Given the description of an element on the screen output the (x, y) to click on. 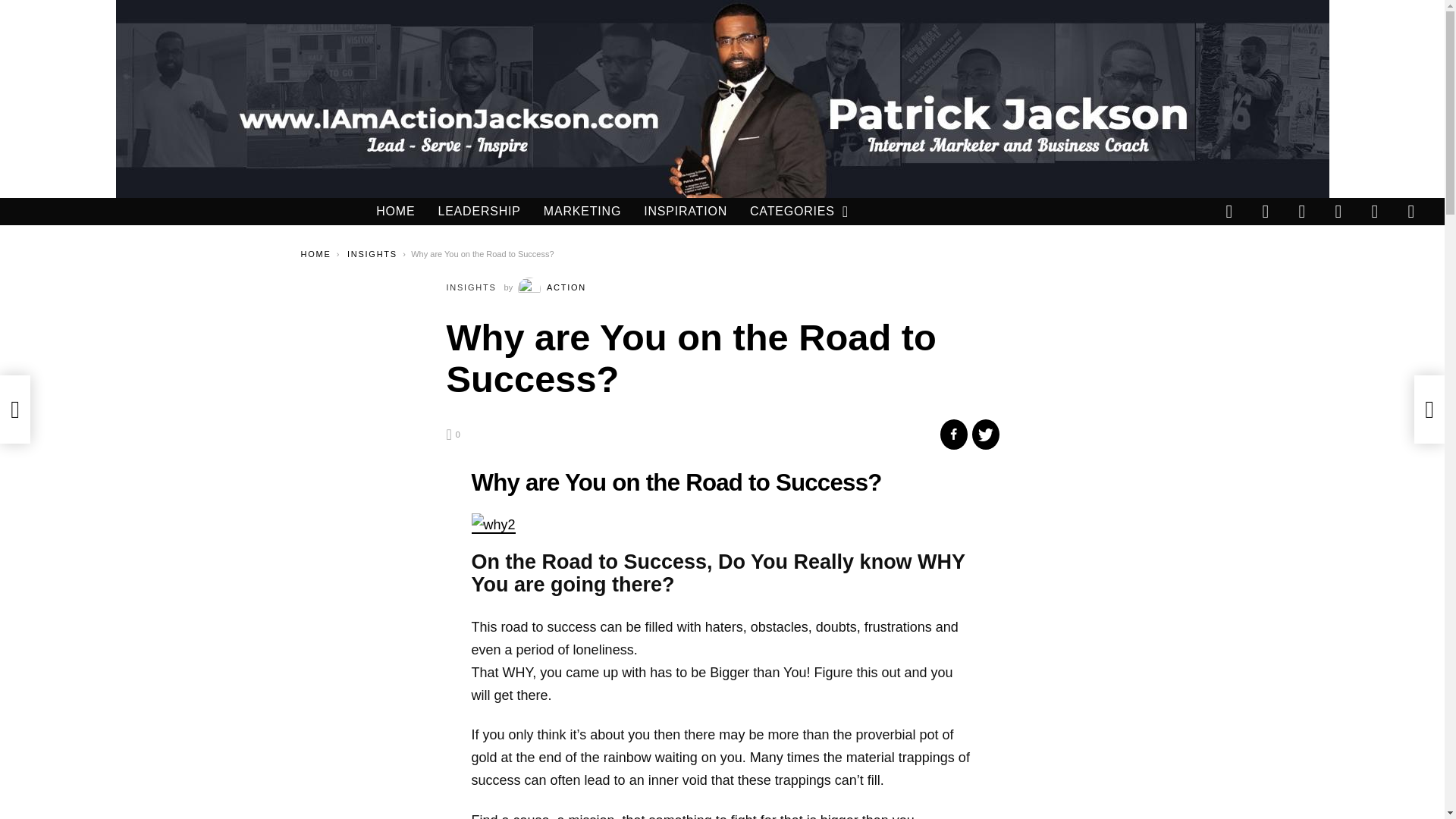
ACTION (552, 286)
LEADERSHIP (478, 210)
INSPIRATION (684, 210)
HOME (314, 253)
INSIGHTS (372, 253)
MARKETING (582, 210)
INSIGHTS (470, 287)
Posts by Action (552, 286)
HOME (394, 210)
CATEGORIES (791, 210)
